Given the description of an element on the screen output the (x, y) to click on. 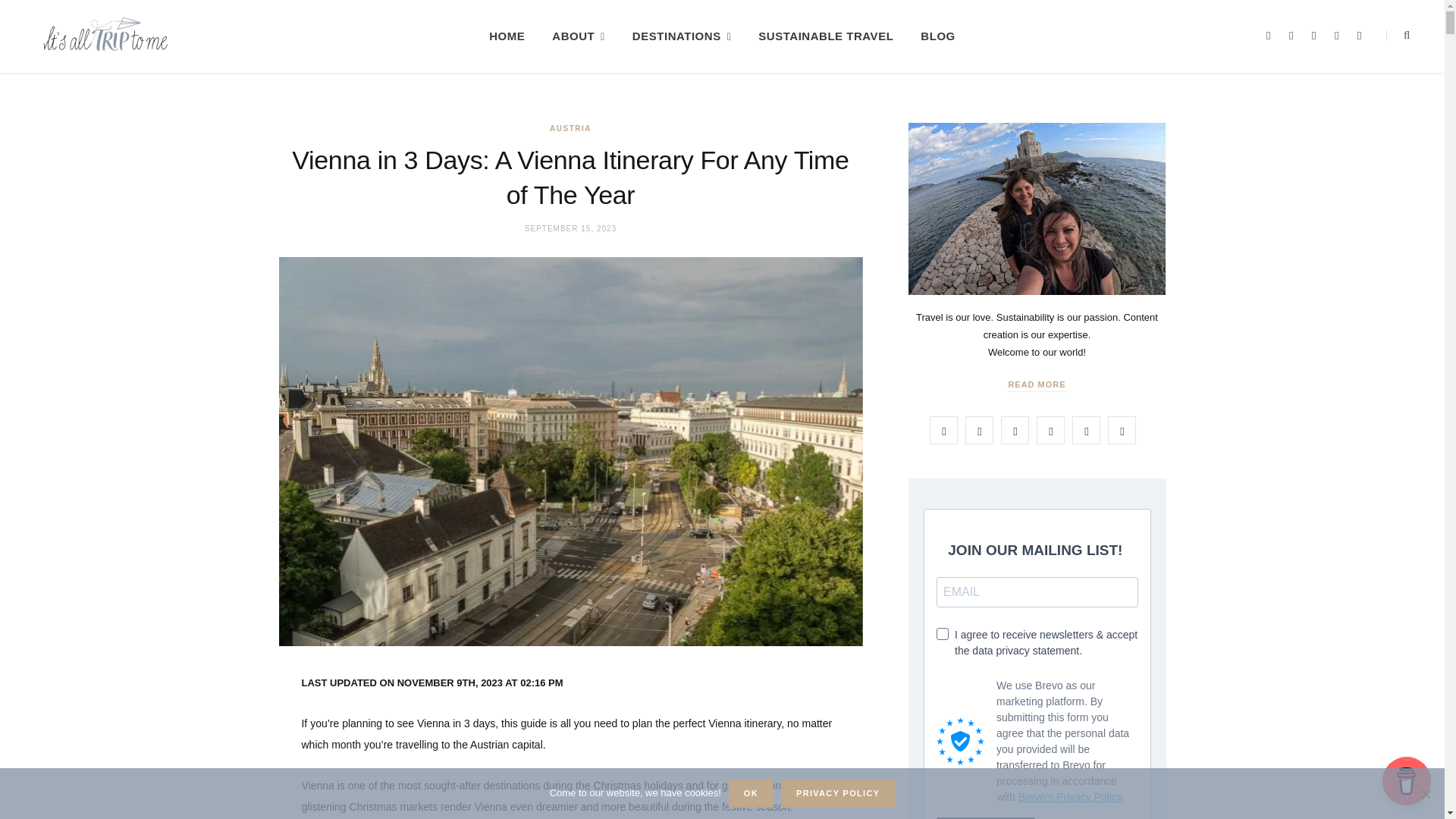
YouTube (1363, 35)
Pinterest (1340, 35)
SEPTEMBER 15, 2023 (569, 228)
Facebook (1272, 35)
AUSTRIA (570, 128)
Instagram (1317, 35)
ABOUT (578, 36)
SUSTAINABLE TRAVEL (825, 36)
DESTINATIONS (681, 36)
